Given the description of an element on the screen output the (x, y) to click on. 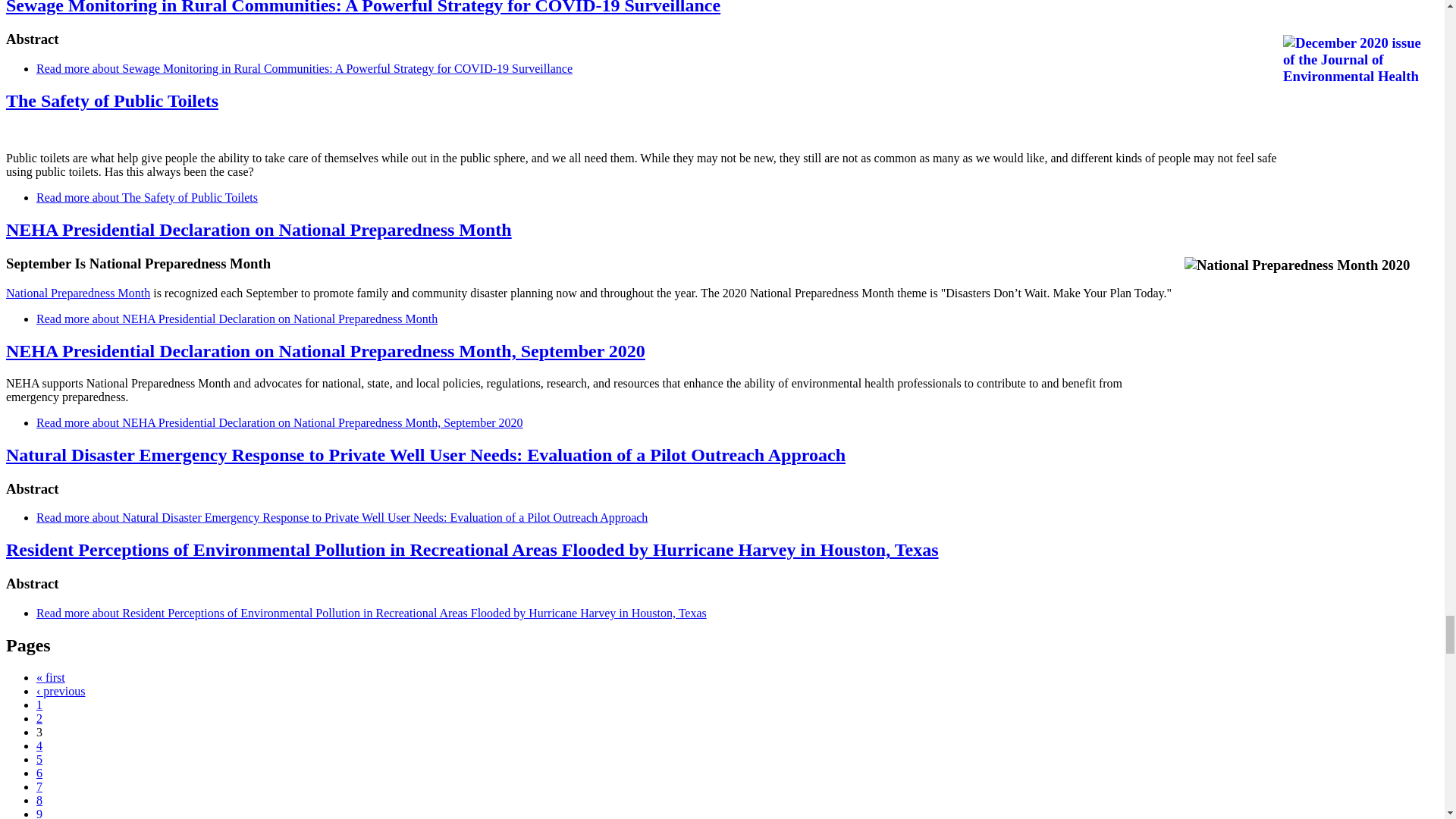
Go to first page (50, 676)
Go to previous page (60, 690)
The Safety of Public Toilets (146, 196)
NEHA Presidential Declaration on National Preparedness Month (237, 318)
